Given the description of an element on the screen output the (x, y) to click on. 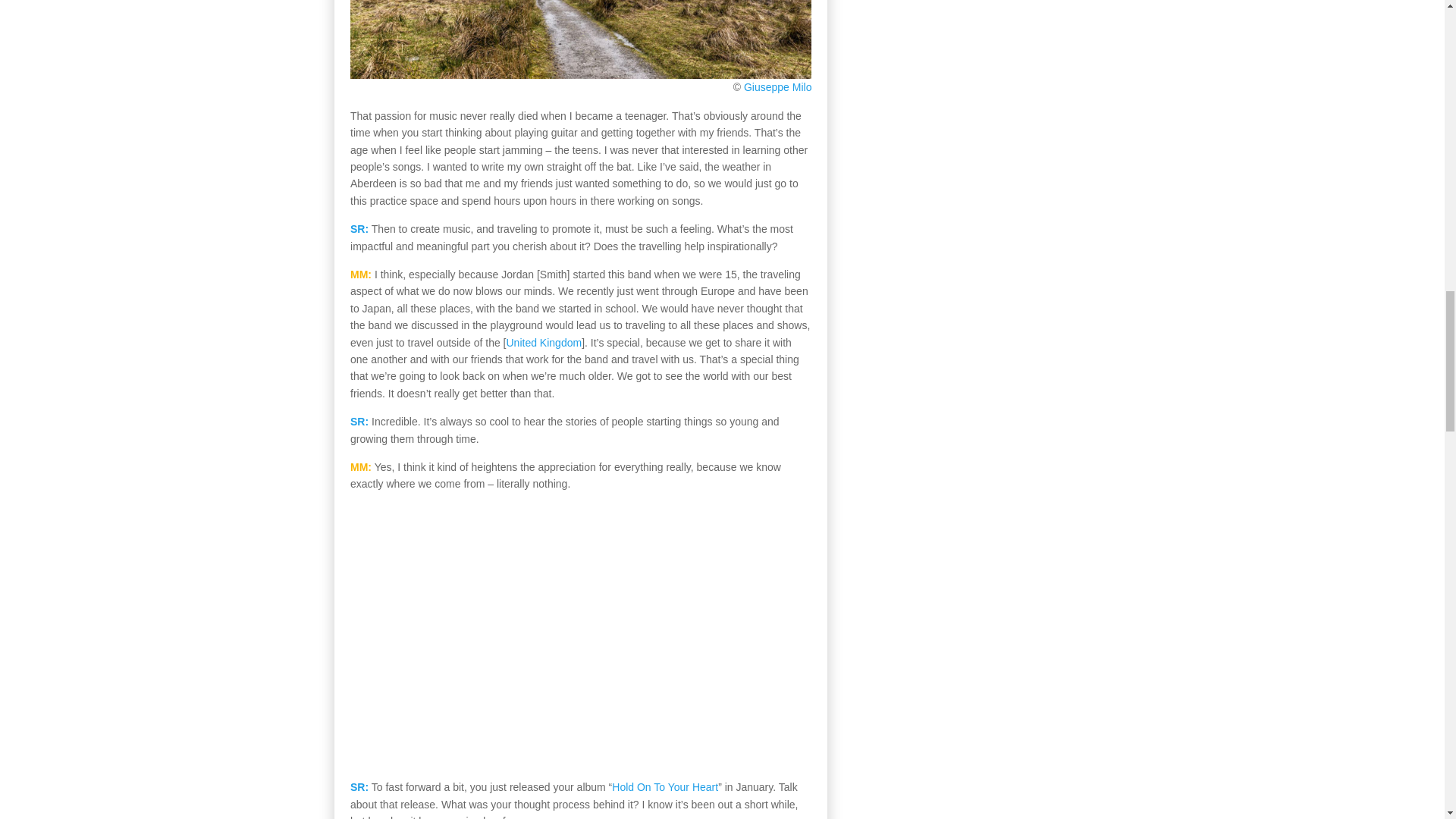
Giuseppe Milo (778, 87)
SR: (359, 421)
MM: (360, 467)
United Kingdom (544, 342)
Hold On To Your Heart (664, 787)
MM: (360, 274)
SR: (359, 787)
SR: (359, 228)
